Given the description of an element on the screen output the (x, y) to click on. 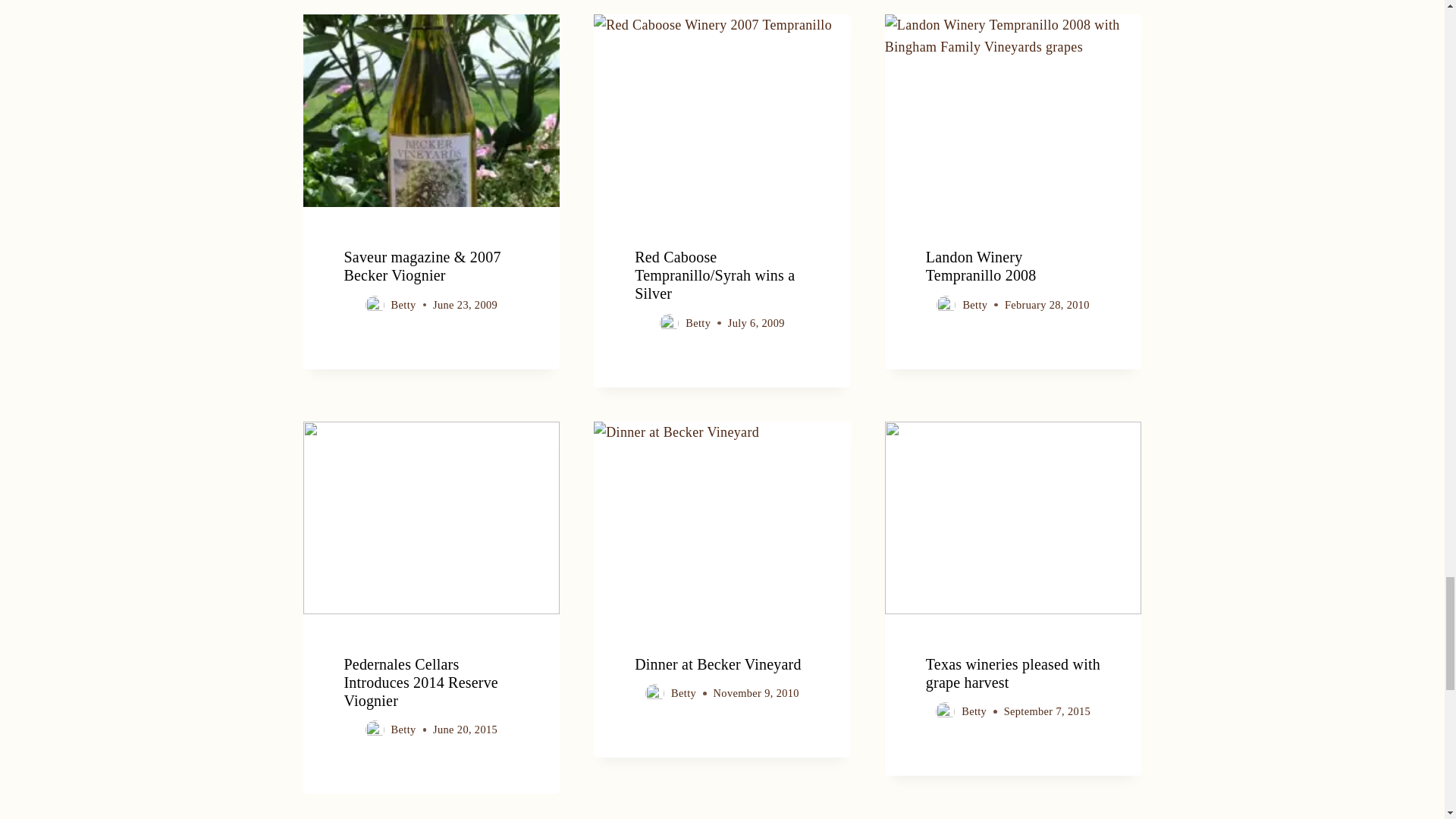
Becker 2007 Viognier - Bingham Family Vineyards (431, 110)
Landon Winery Tempranillo 2008 - Bingham Family Vineyards (1013, 110)
920x920 - Bingham Family Vineyards (1013, 517)
